Given the description of an element on the screen output the (x, y) to click on. 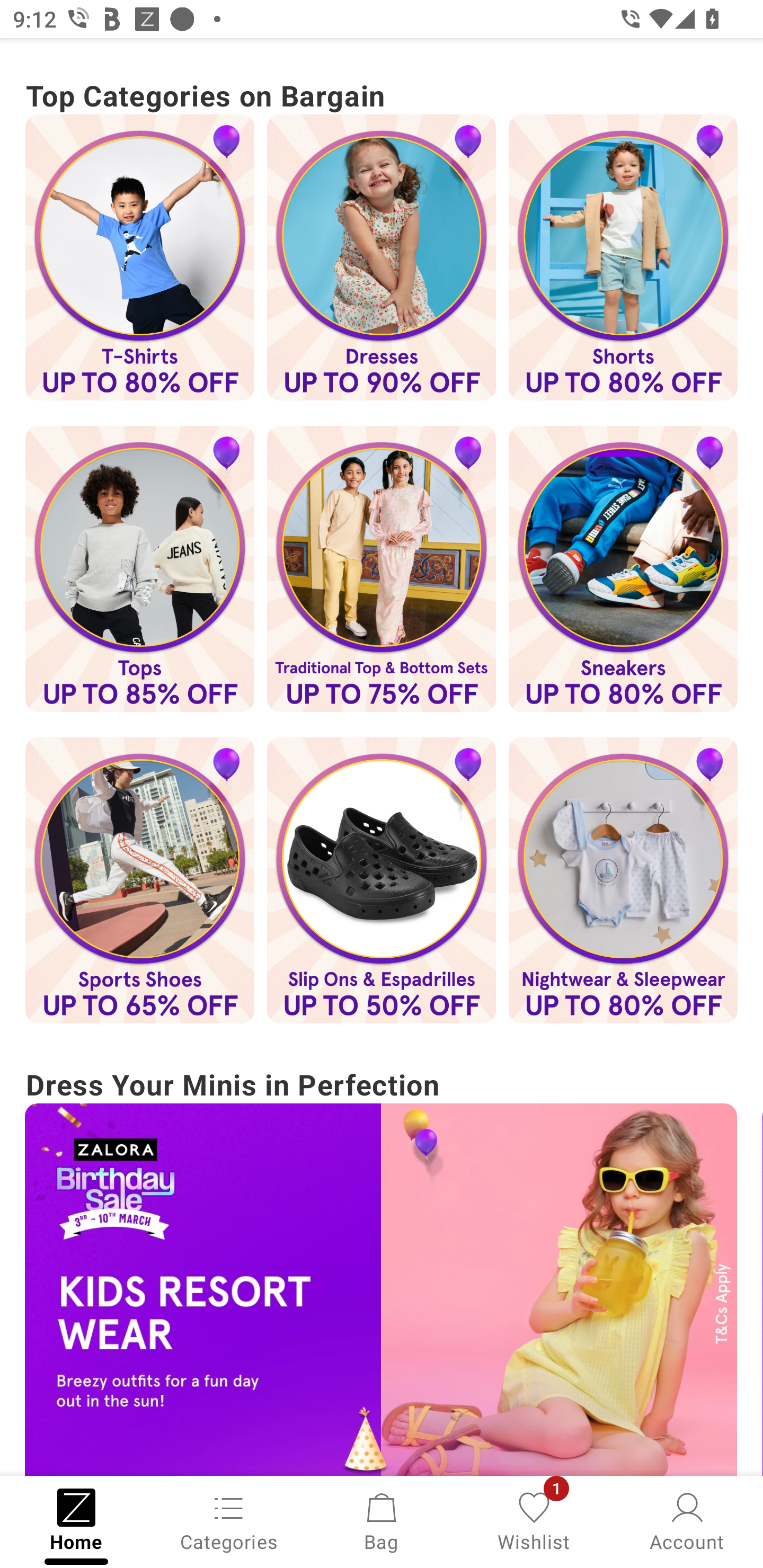
Campaign banner (139, 256)
Campaign banner (381, 256)
Campaign banner (622, 256)
Campaign banner (139, 568)
Campaign banner (381, 568)
Campaign banner (622, 568)
Campaign banner (139, 879)
Campaign banner (381, 879)
Campaign banner (622, 879)
Campaign banner (381, 1289)
Categories (228, 1519)
Bag (381, 1519)
Wishlist, 1 new notification Wishlist (533, 1519)
Account (686, 1519)
